Given the description of an element on the screen output the (x, y) to click on. 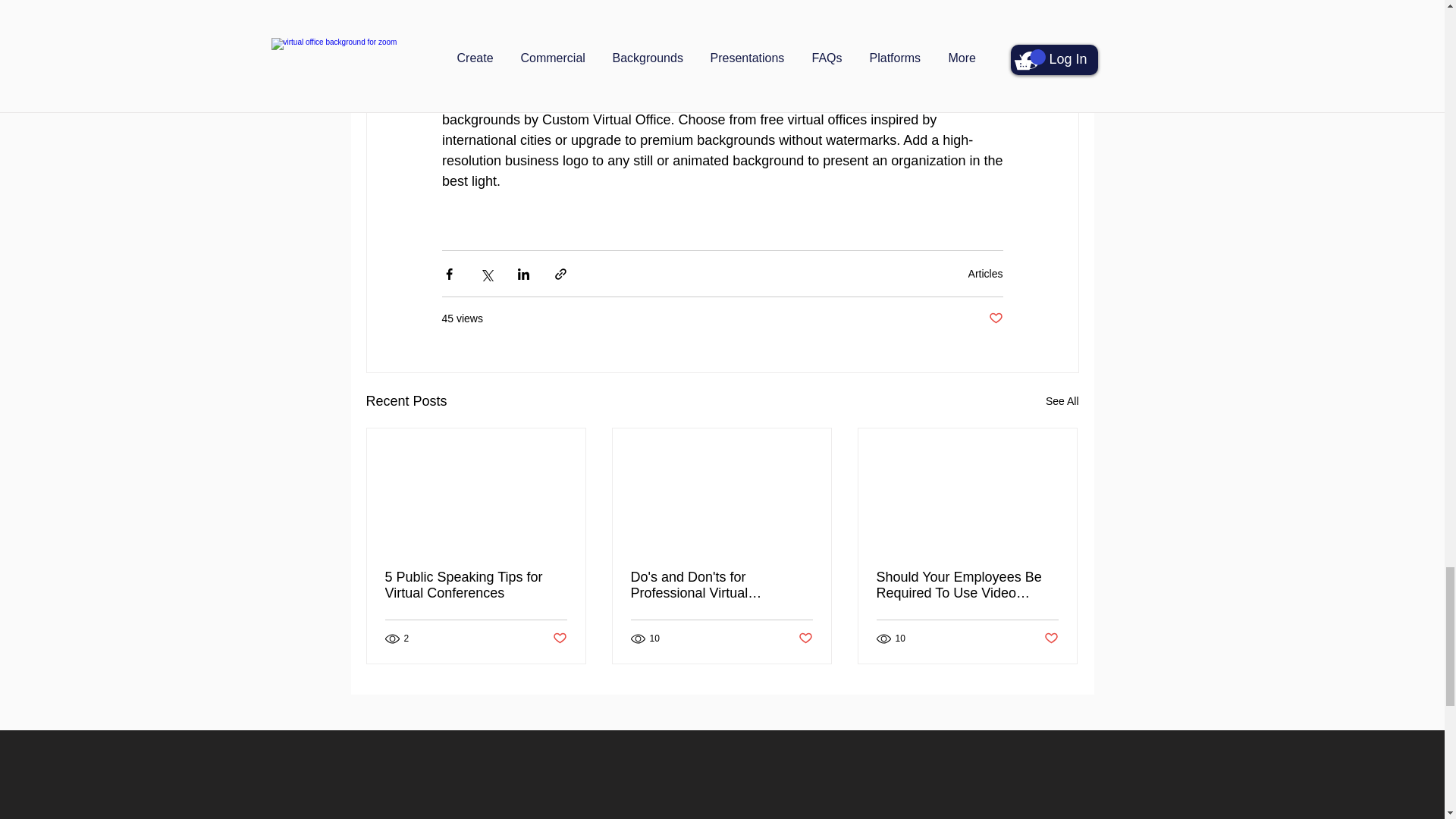
See All (1061, 401)
Articles (985, 273)
5 Public Speaking Tips for Virtual Conferences (476, 585)
Post not marked as liked (558, 638)
Post not marked as liked (995, 318)
